Given the description of an element on the screen output the (x, y) to click on. 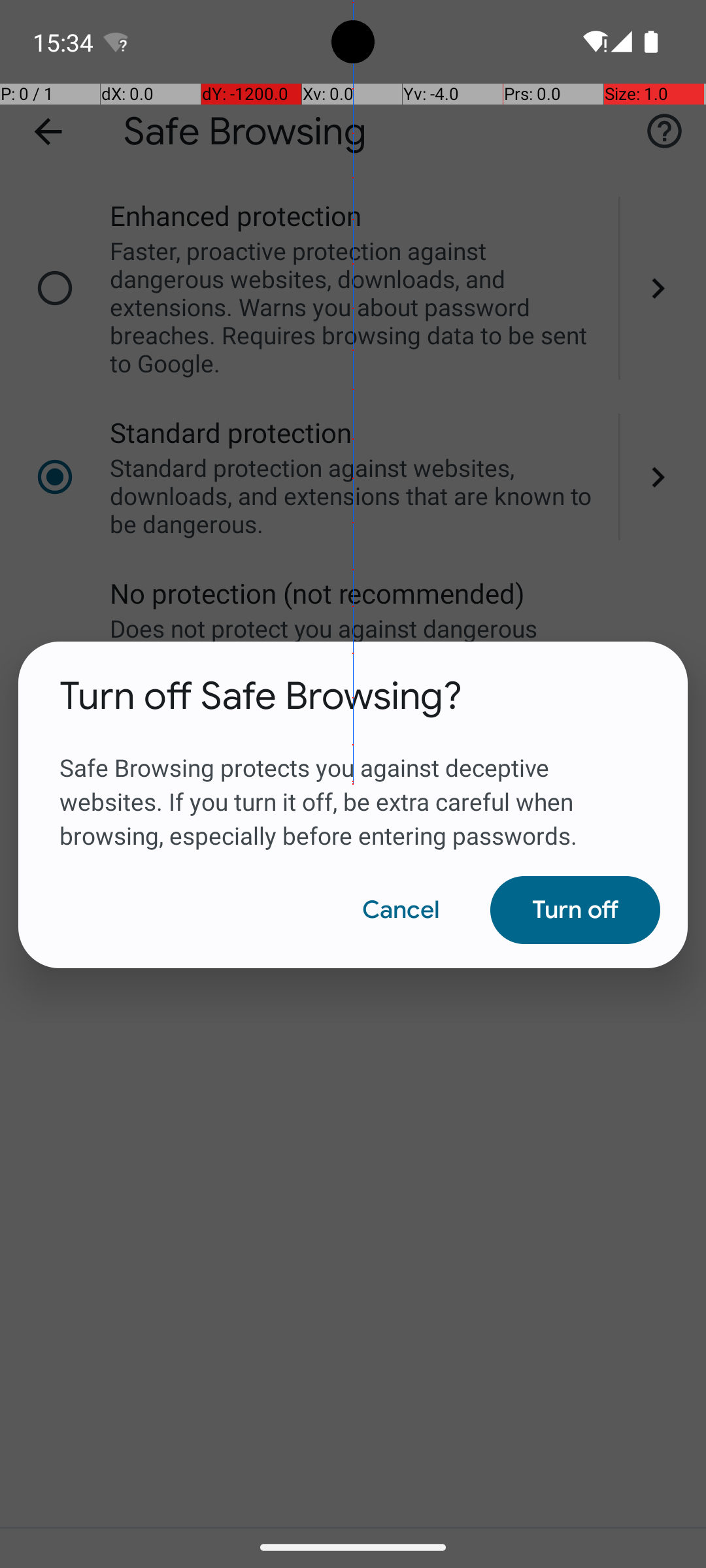
Turn off Safe Browsing? Element type: android.widget.TextView (260, 695)
Safe Browsing protects you against deceptive websites. If you turn it off, be extra careful when browsing, especially before entering passwords. Element type: android.widget.TextView (352, 785)
Turn off Element type: android.widget.Button (575, 909)
